Given the description of an element on the screen output the (x, y) to click on. 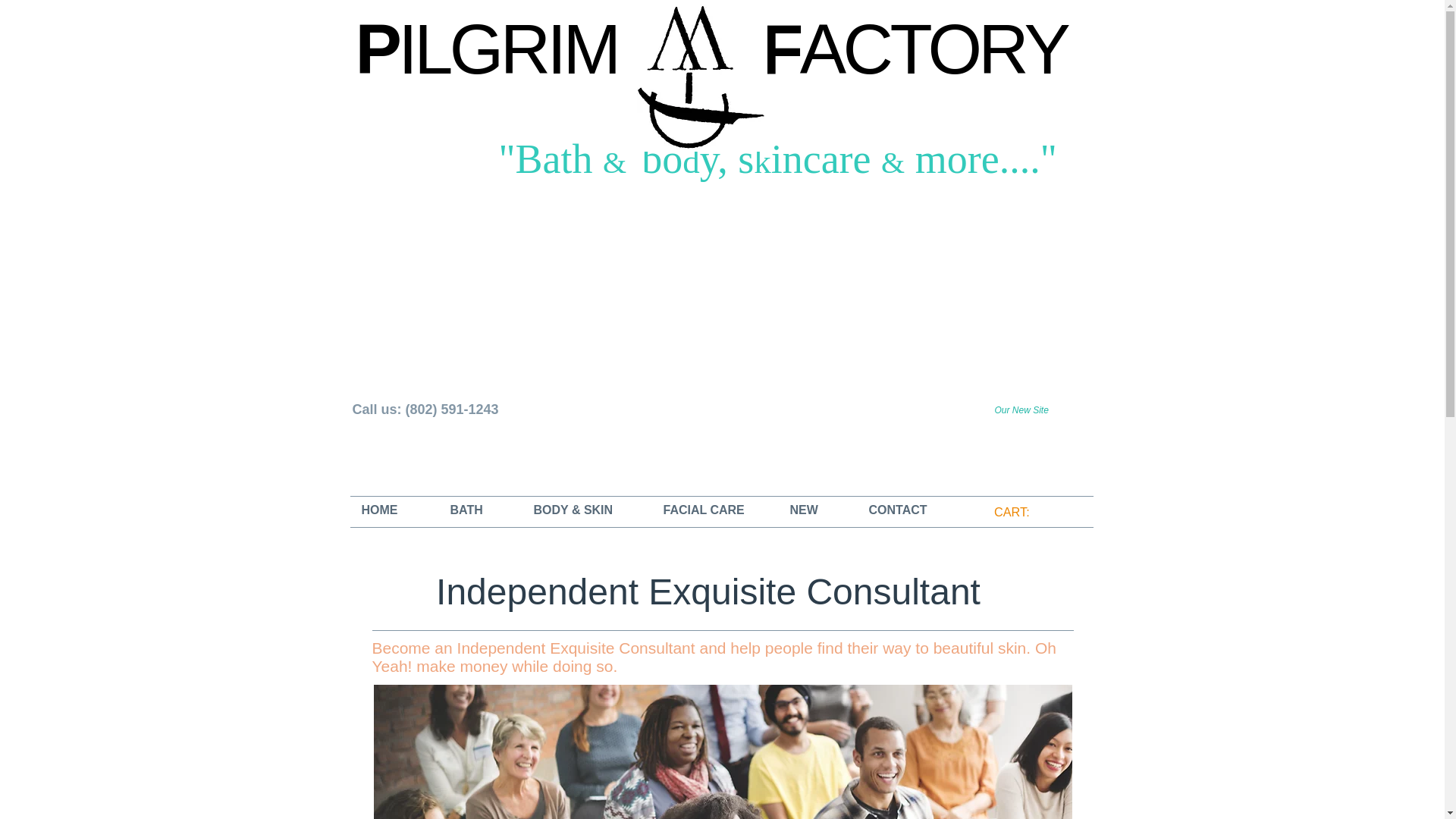
CONTACT (913, 509)
Audience (722, 751)
CART: (1017, 512)
NEW (820, 509)
CART: (1017, 512)
FACIAL CARE (718, 509)
HOME (397, 509)
BATH (482, 509)
